Given the description of an element on the screen output the (x, y) to click on. 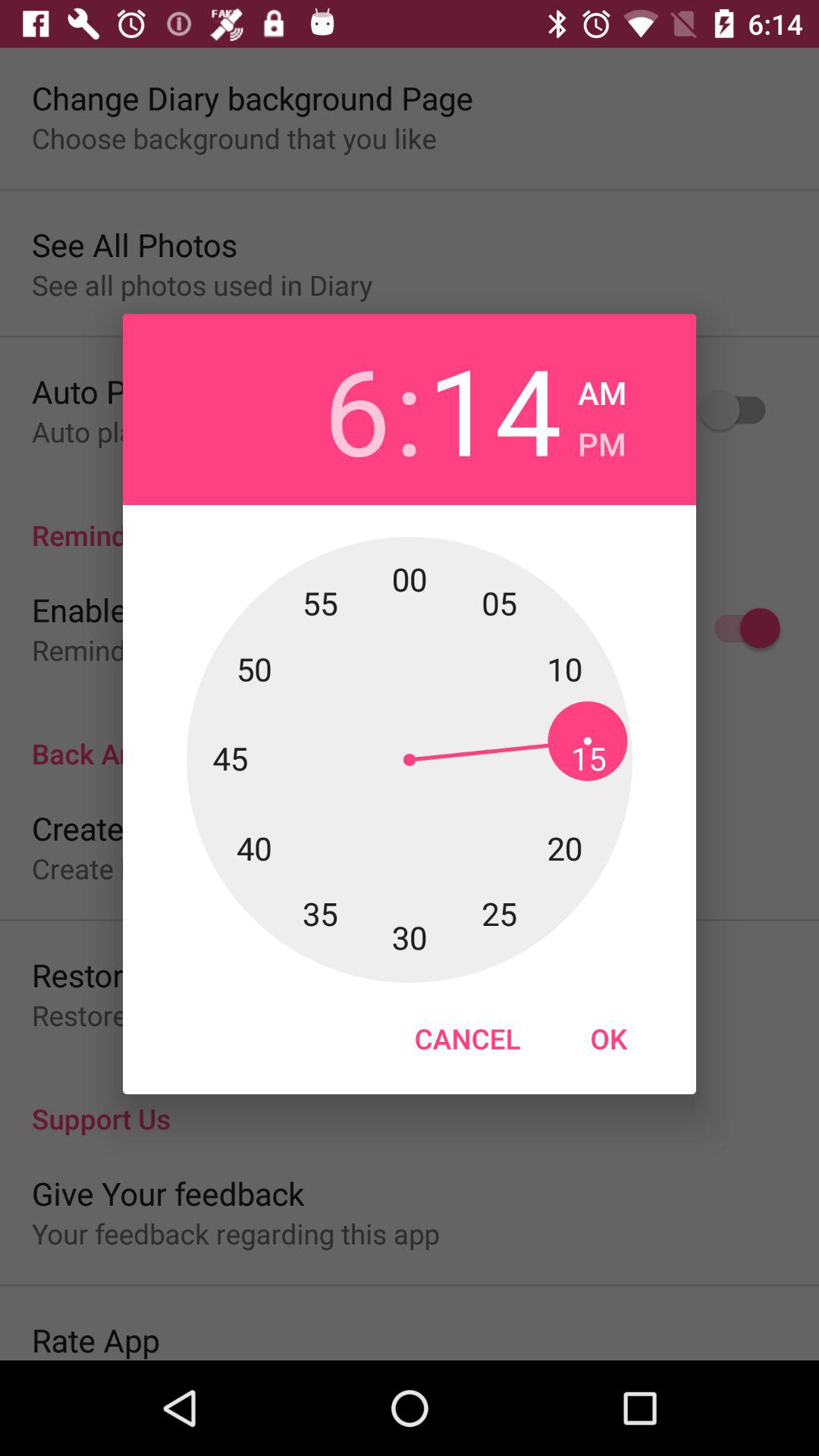
scroll until pm (601, 439)
